Given the description of an element on the screen output the (x, y) to click on. 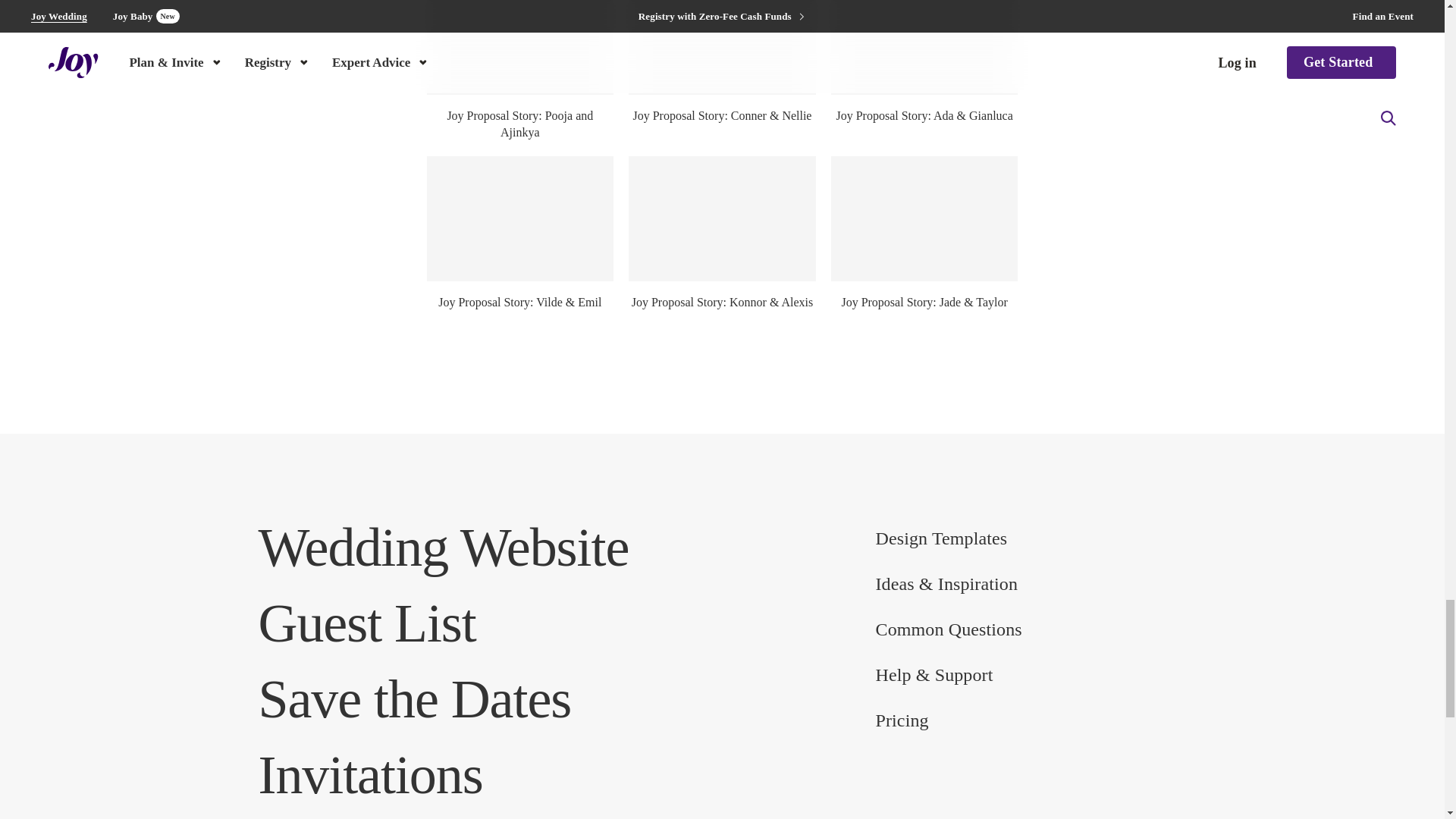
Joy Proposal Story: Pooja and Ajinkya (519, 47)
